Given the description of an element on the screen output the (x, y) to click on. 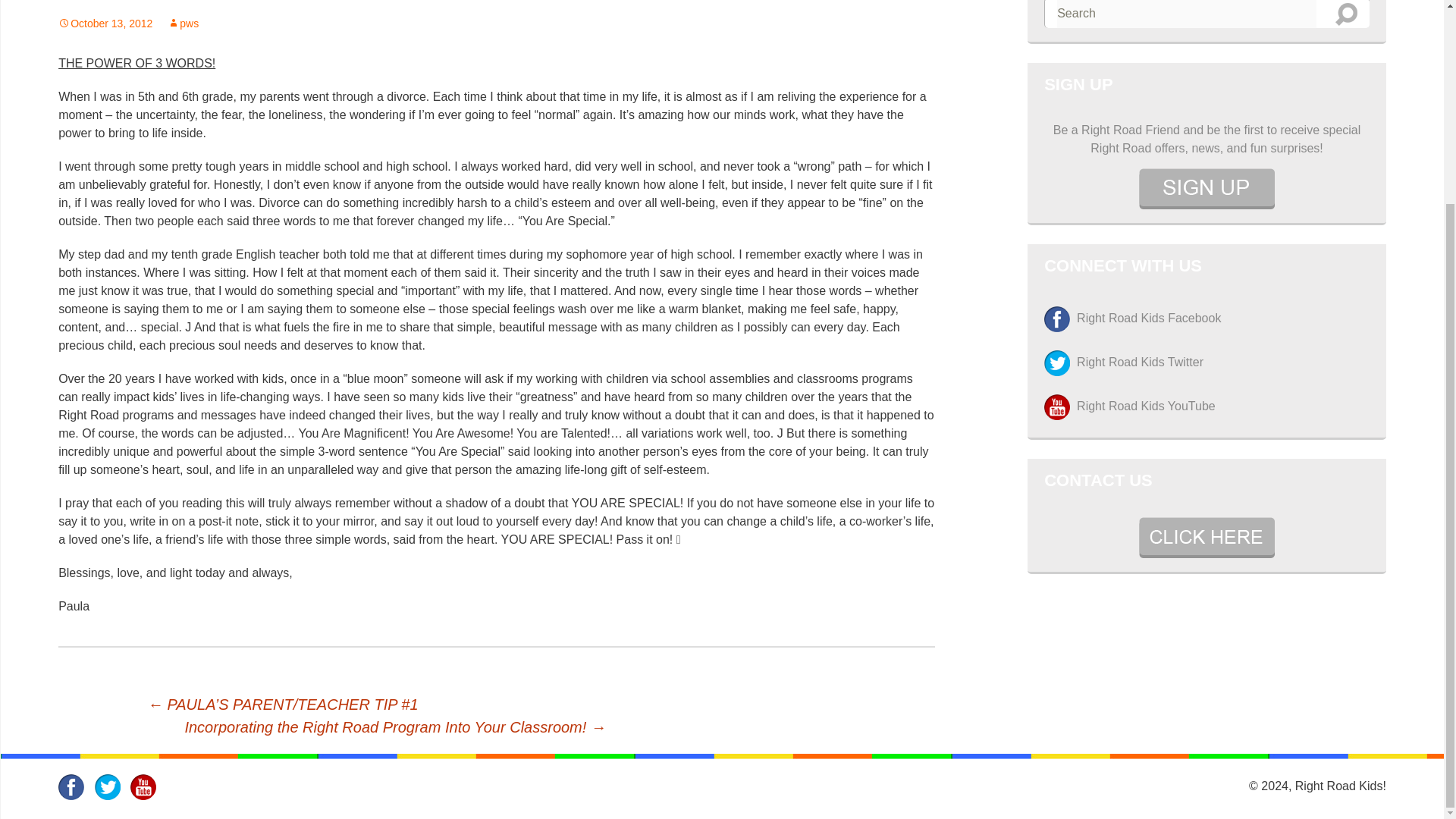
Search for: (1186, 13)
View all posts by pws (182, 23)
Search (1346, 14)
Search (1346, 14)
